Given the description of an element on the screen output the (x, y) to click on. 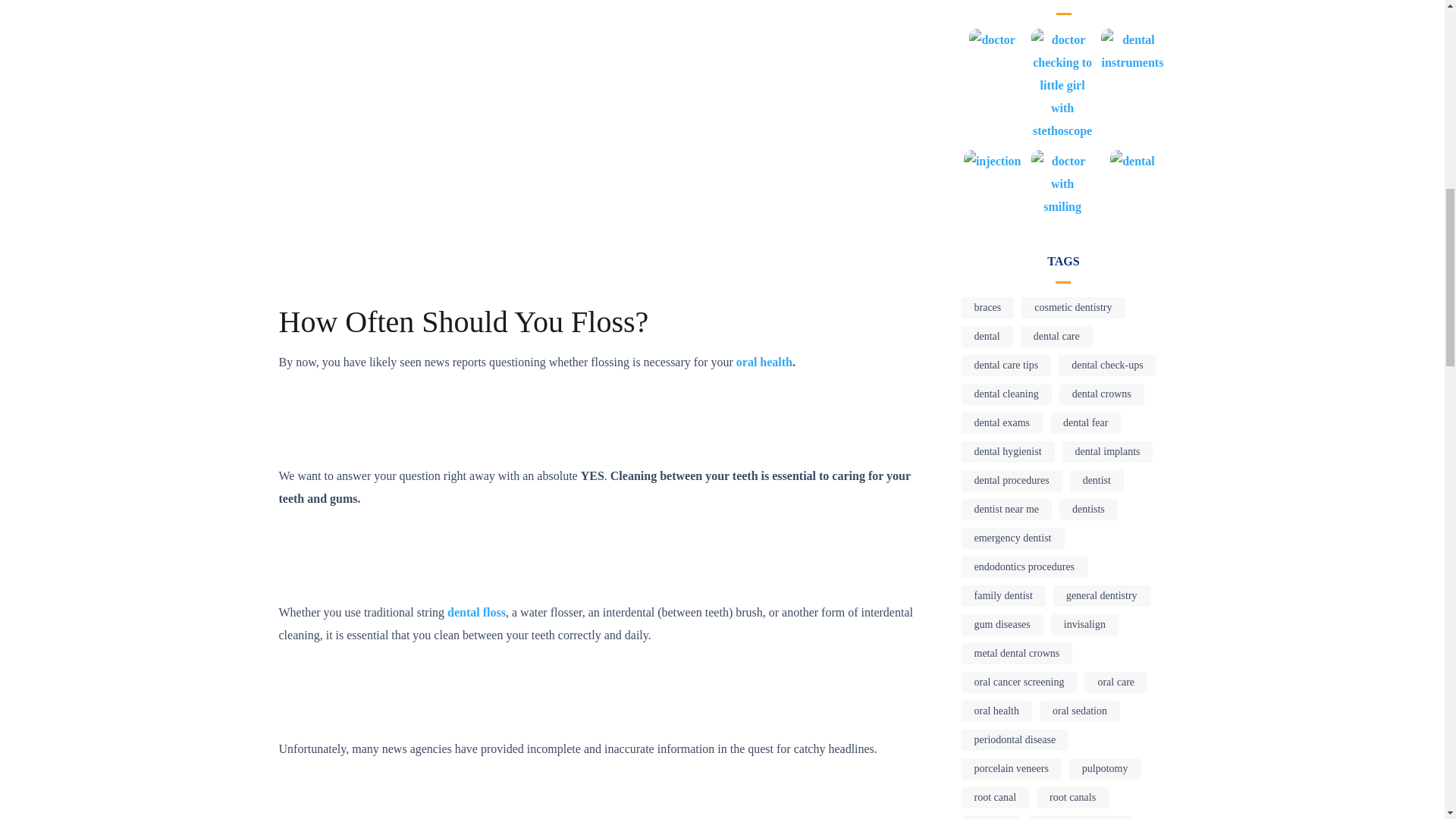
dental floss (475, 612)
oral health (764, 361)
